Given the description of an element on the screen output the (x, y) to click on. 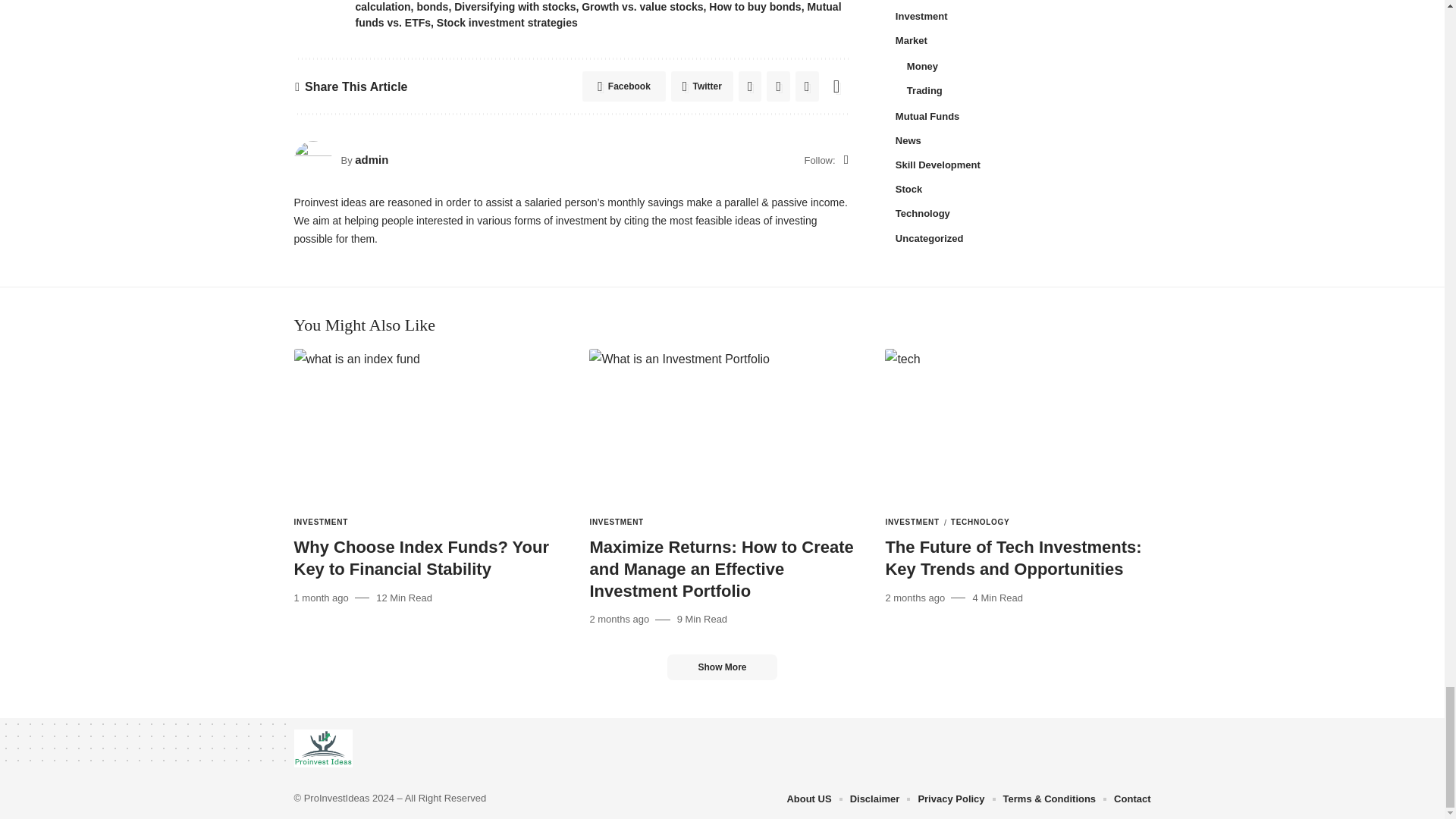
Why Choose Index Funds? Your Key to Financial Stability (426, 427)
ProInvest Ideas (323, 748)
The Future of Tech Investments: Key Trends and Opportunities (1017, 427)
